Given the description of an element on the screen output the (x, y) to click on. 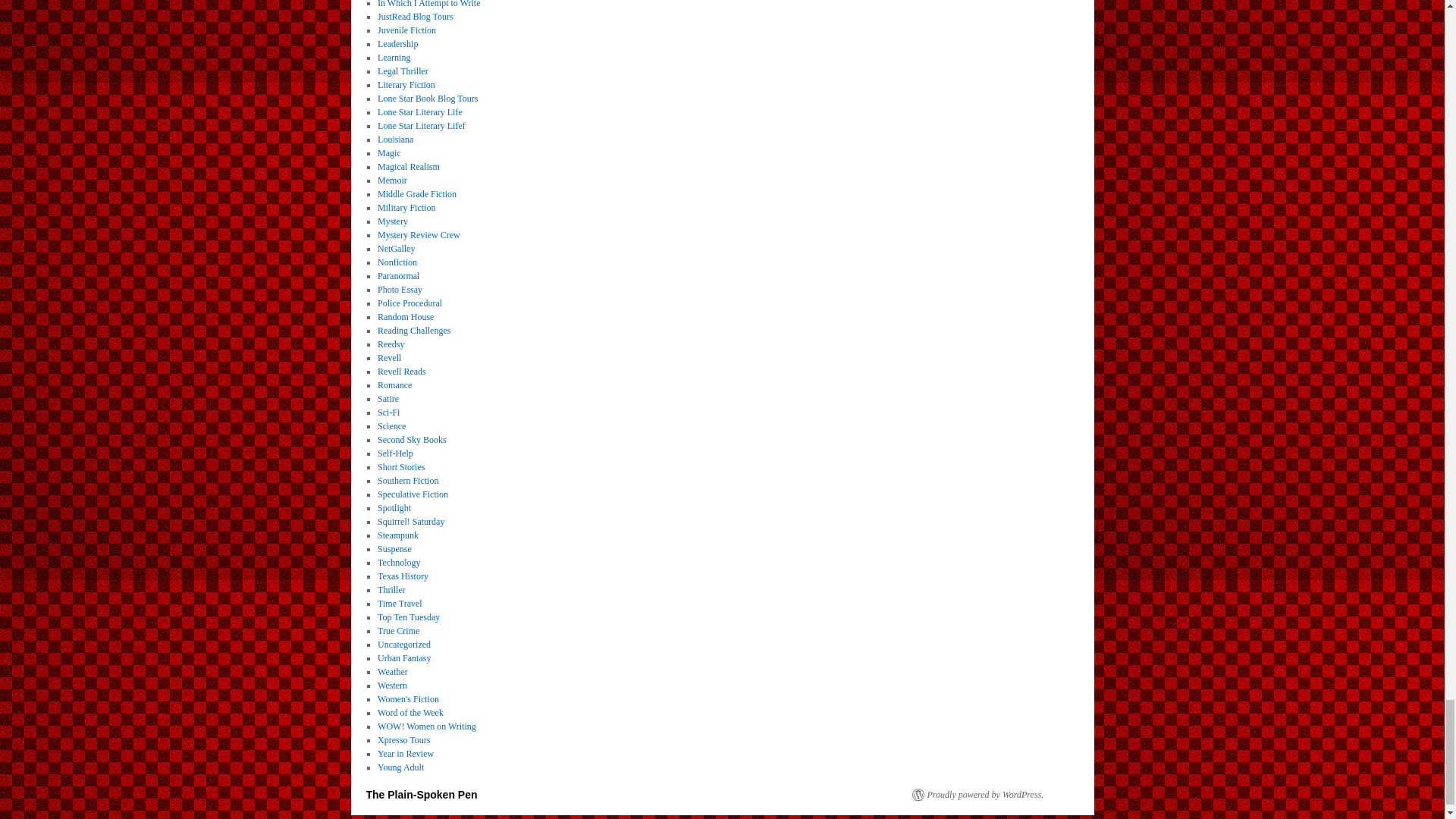
Semantic Personal Publishing Platform (977, 794)
